Given the description of an element on the screen output the (x, y) to click on. 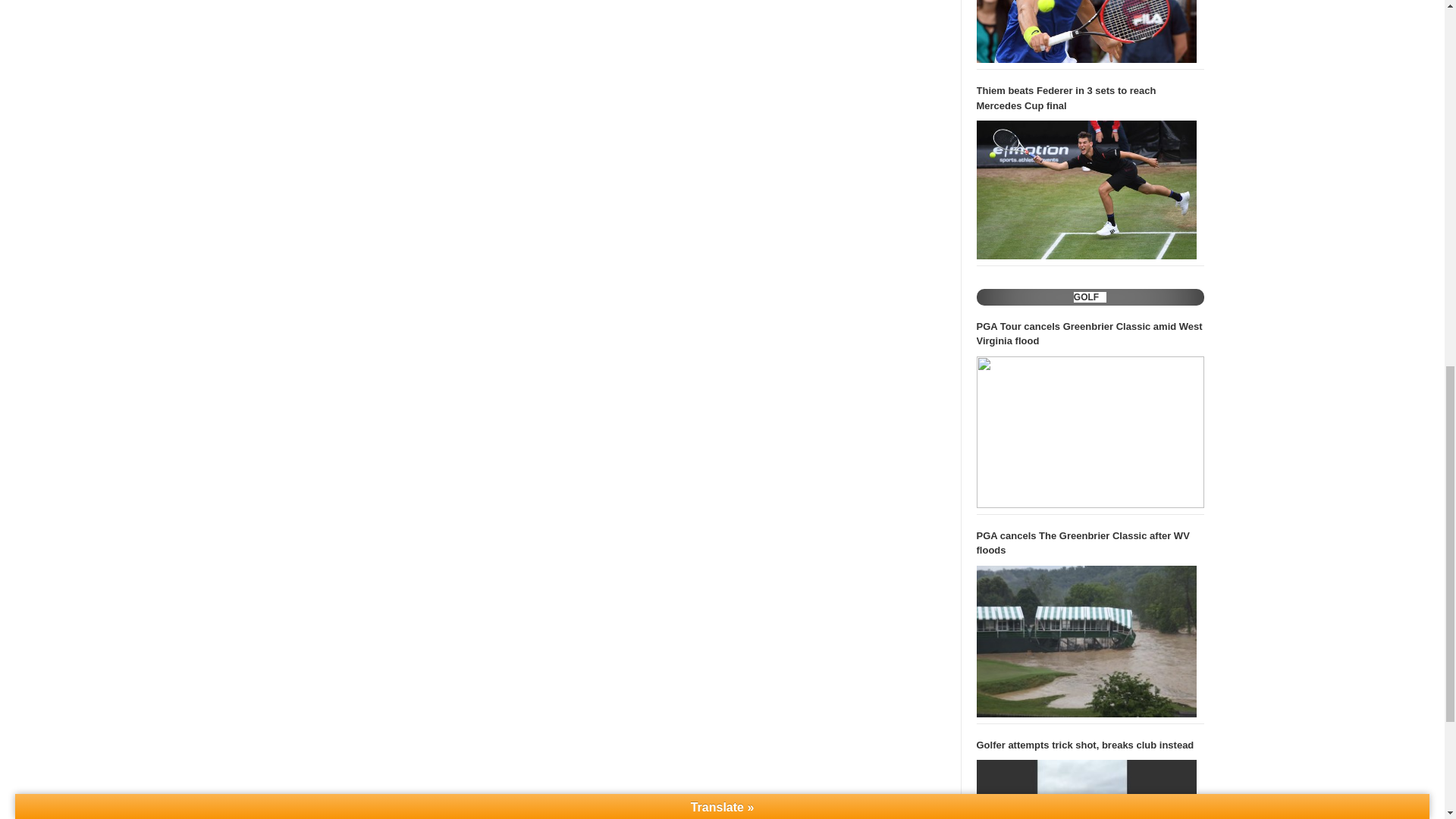
PGA Tour cancels Greenbrier Classic amid West Virginia flood (1090, 333)
GOLF (1086, 296)
Thiem beats Federer in 3 sets to reach Mercedes Cup final (1086, 189)
Thiem beats Federer in 3 sets to reach Mercedes Cup final (1090, 98)
Thiem beats Kohlschreiber in Stuttgart for 1st grass title (1086, 31)
PGA cancels The Greenbrier Classic after WV floods (1090, 542)
PGA cancels The Greenbrier Classic after WV floods (1086, 641)
Golfer attempts trick shot, breaks club instead (1086, 789)
Golfer attempts trick shot, breaks club instead (1090, 744)
PGA Tour cancels Greenbrier Classic amid West Virginia flood (1090, 431)
